Given the description of an element on the screen output the (x, y) to click on. 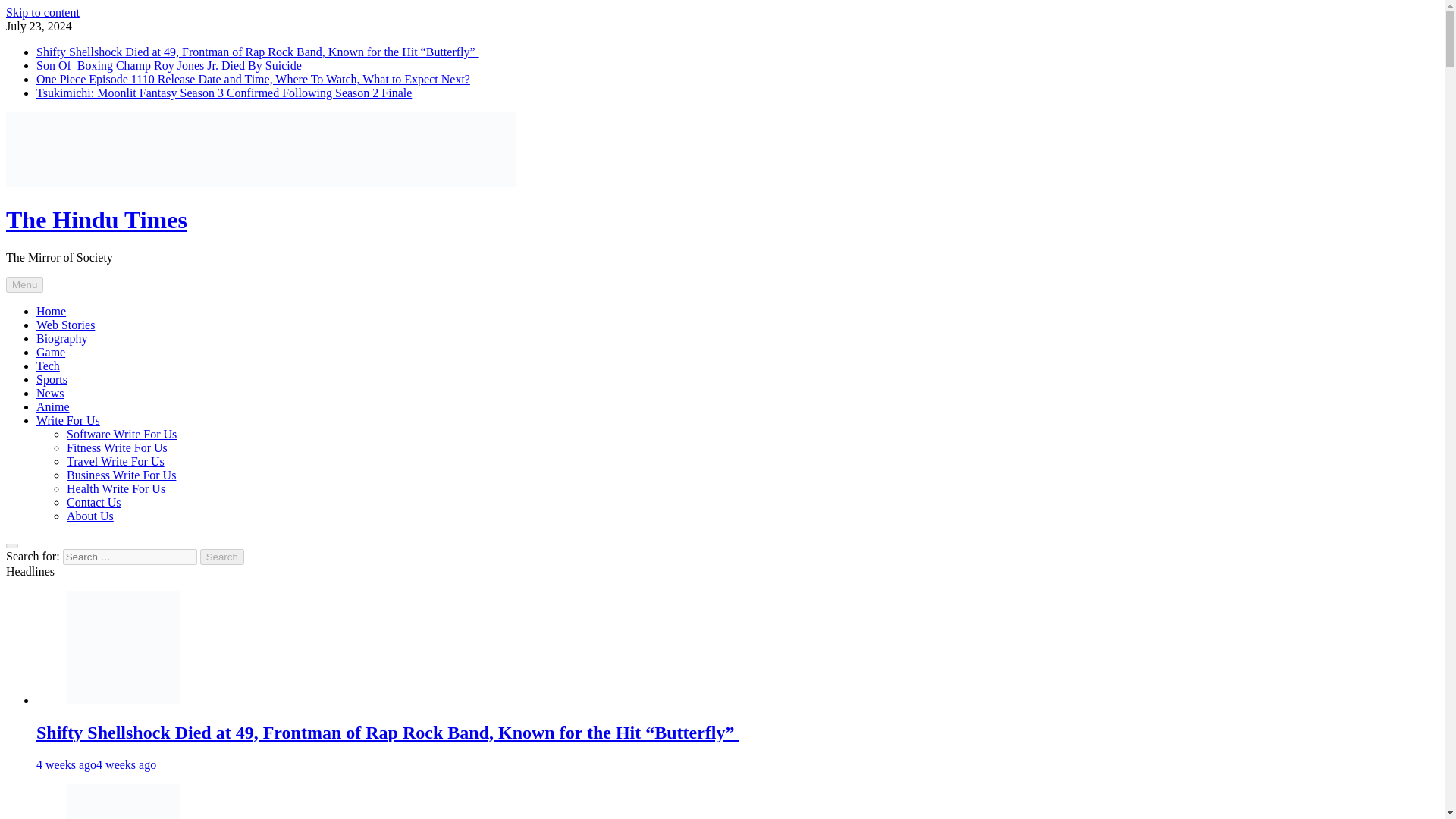
Tech (47, 365)
About Us (89, 515)
Search (222, 556)
News (50, 392)
Menu (24, 284)
Contact Us (93, 502)
Health Write For Us (115, 488)
4 weeks ago4 weeks ago (95, 764)
Business Write For Us (121, 474)
Fitness Write For Us (116, 447)
Write For Us (68, 420)
The Hindu Times (96, 219)
Travel Write For Us (115, 461)
